Given the description of an element on the screen output the (x, y) to click on. 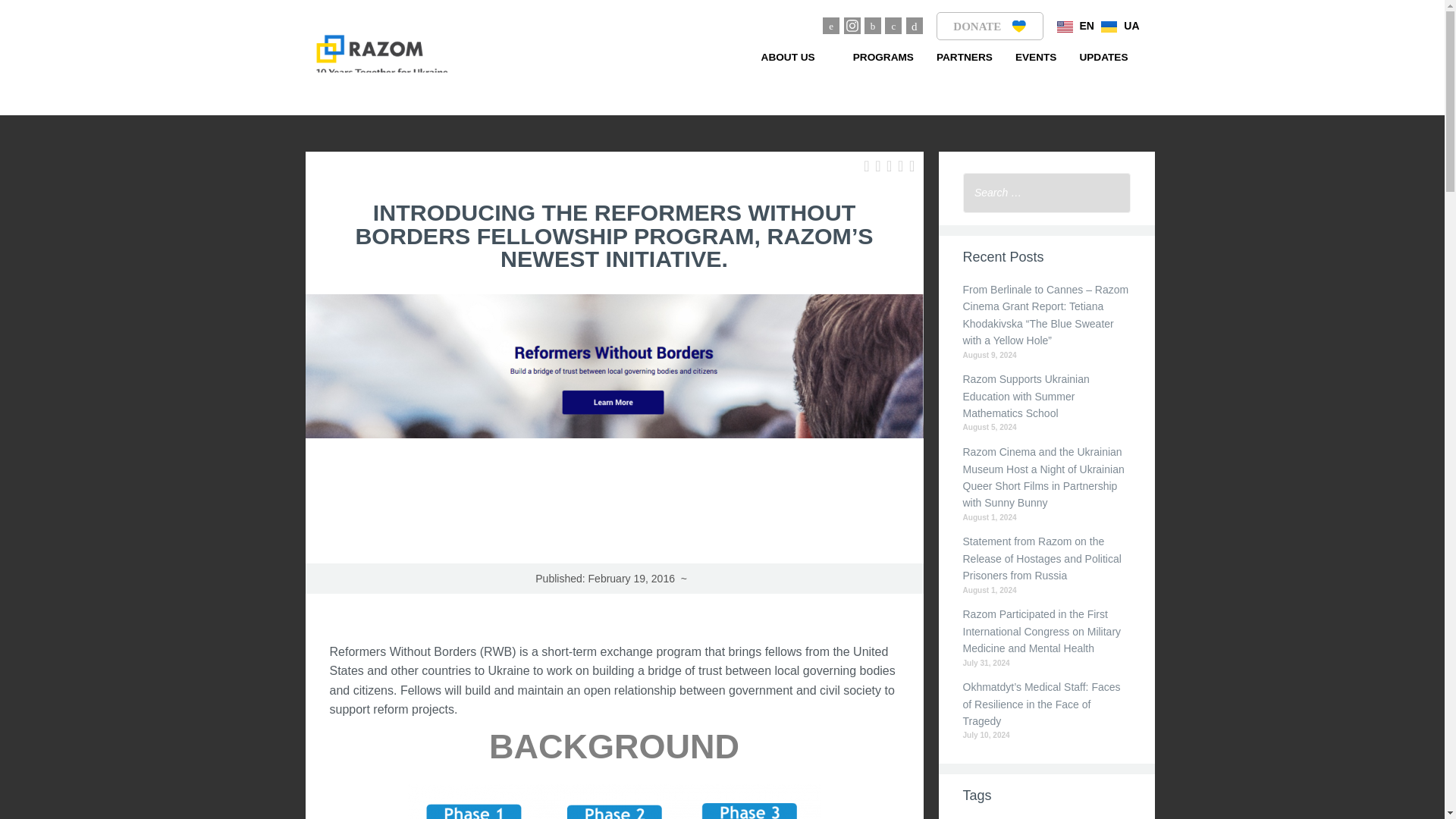
UA (1119, 25)
DONATE (989, 26)
EN (1075, 25)
UPDATES (1102, 57)
EVENTS (1036, 57)
PROGRAMS (882, 57)
FAQ (795, 261)
ABOUT US (795, 57)
CAREERS (795, 125)
OUR STORY (795, 159)
